Given the description of an element on the screen output the (x, y) to click on. 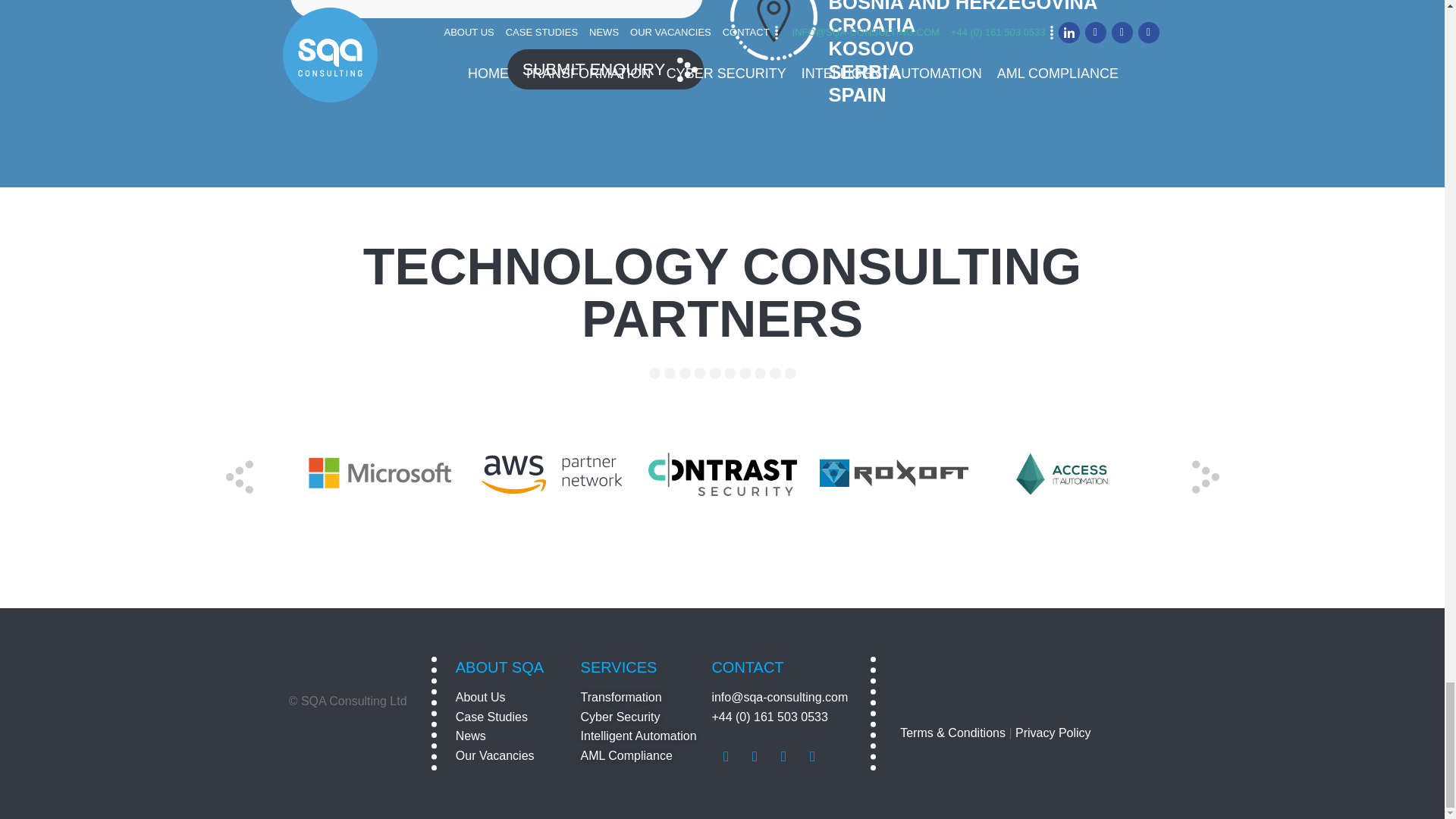
Submit Enquiry (604, 69)
